Given the description of an element on the screen output the (x, y) to click on. 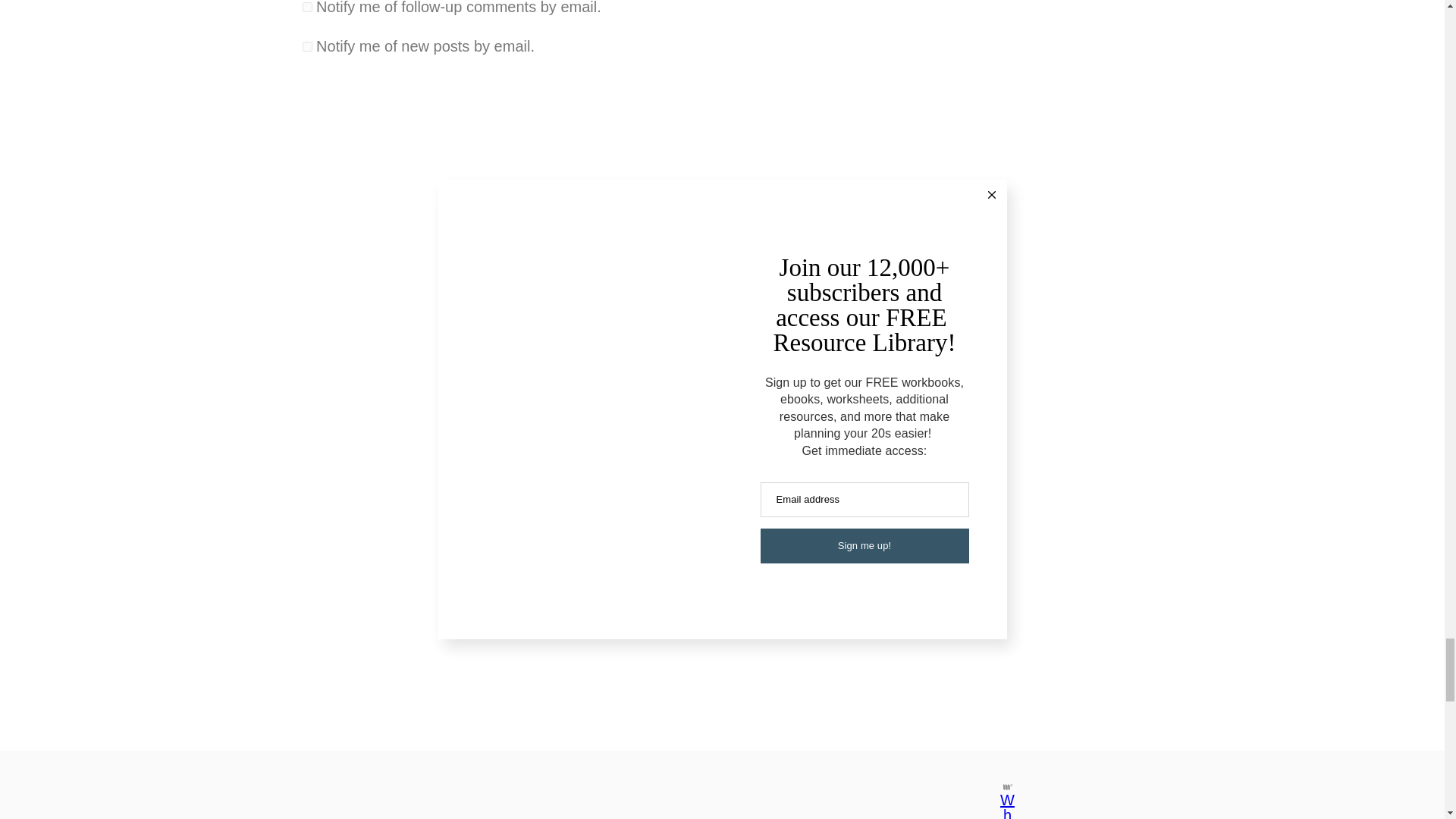
subscribe (306, 46)
subscribe (306, 6)
